Given the description of an element on the screen output the (x, y) to click on. 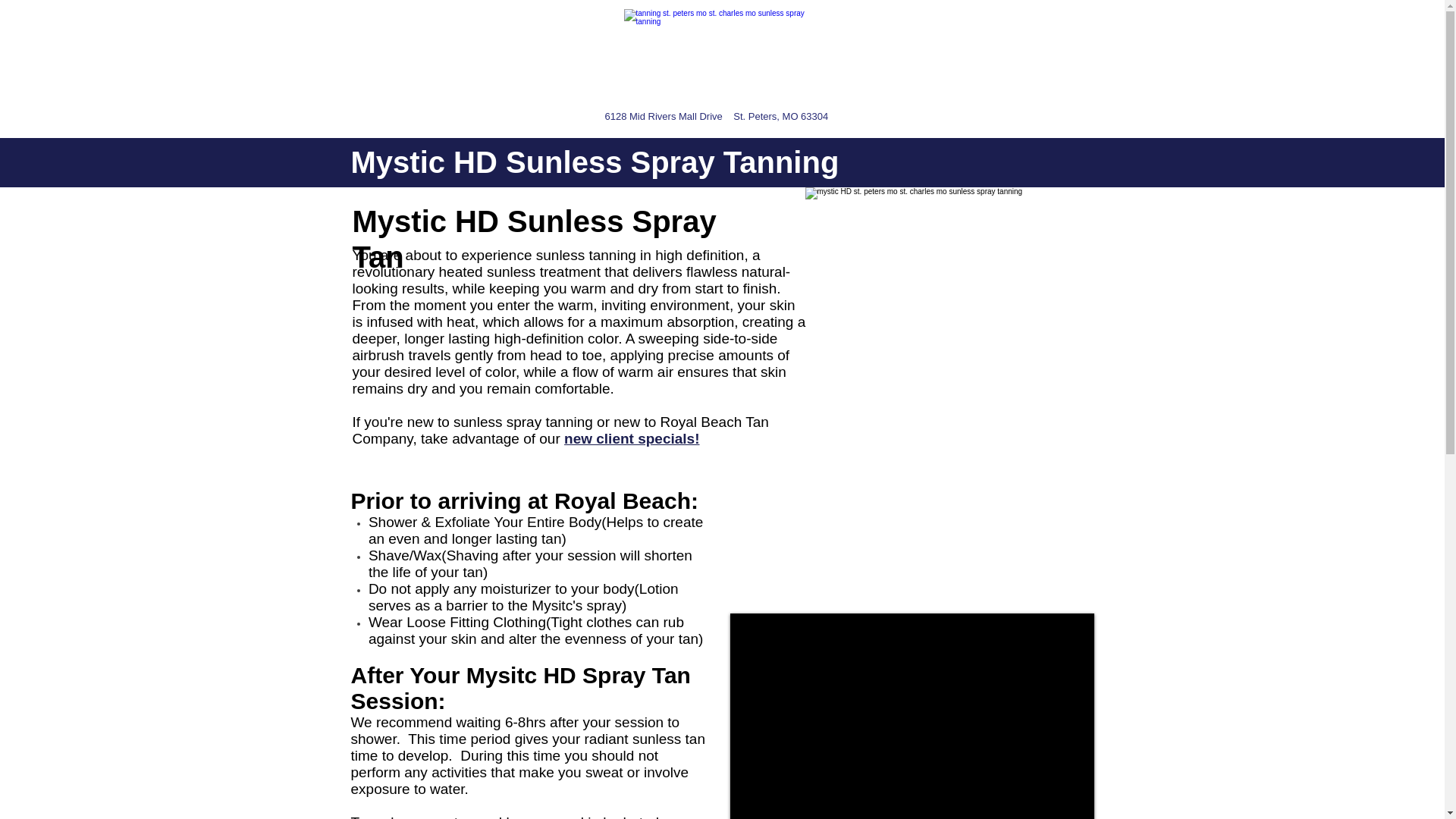
External YouTube (911, 716)
new client specials! (631, 438)
